Given the description of an element on the screen output the (x, y) to click on. 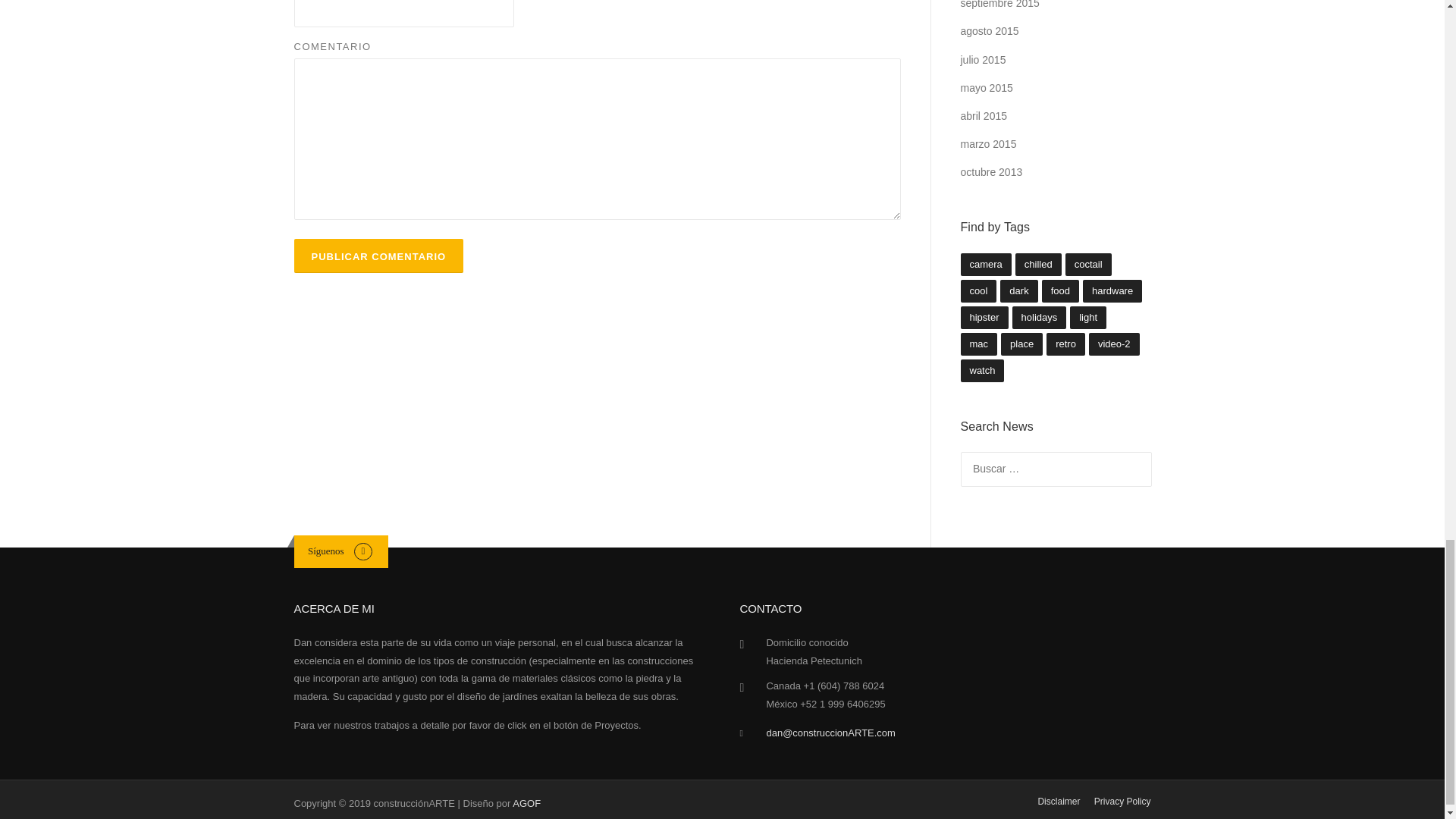
1 tema (977, 291)
Publicar comentario (379, 255)
1 tema (1037, 264)
1 tema (984, 264)
1 tema (1088, 264)
Publicar comentario (379, 255)
